Given the description of an element on the screen output the (x, y) to click on. 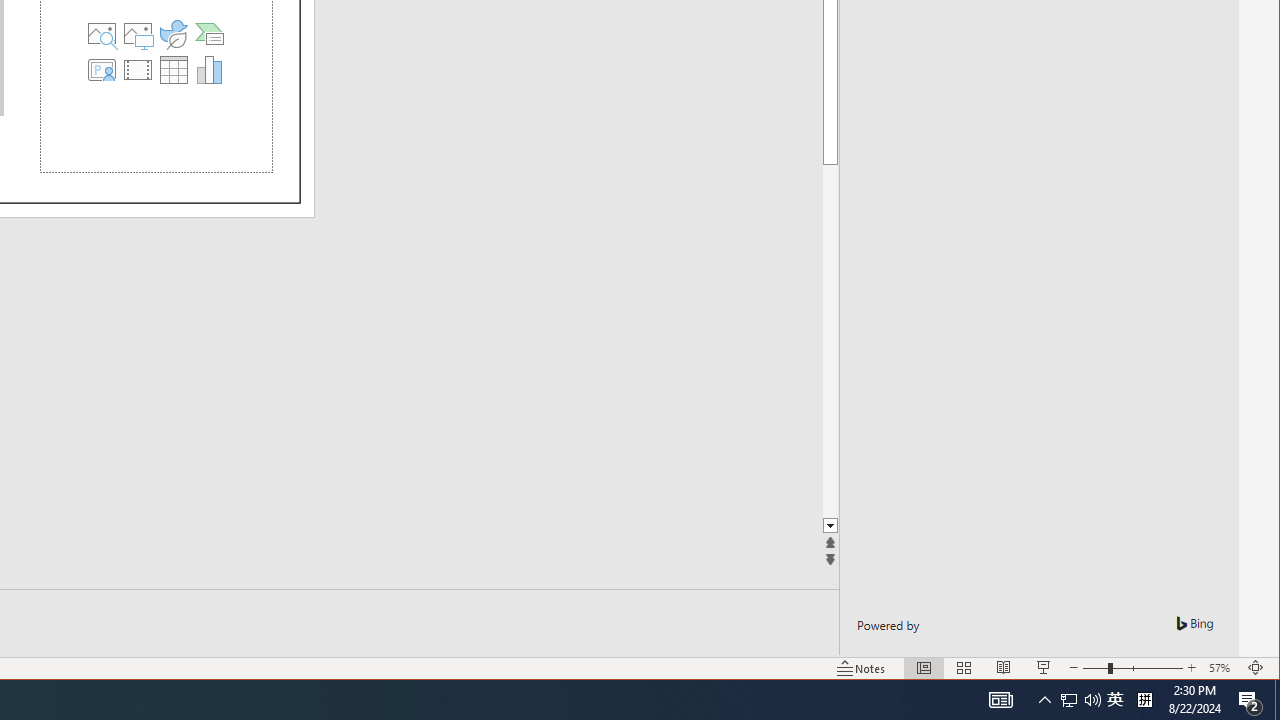
Insert a SmartArt Graphic (210, 33)
Insert Cameo (101, 69)
Insert an Icon (173, 33)
Insert Chart (210, 69)
